Given the description of an element on the screen output the (x, y) to click on. 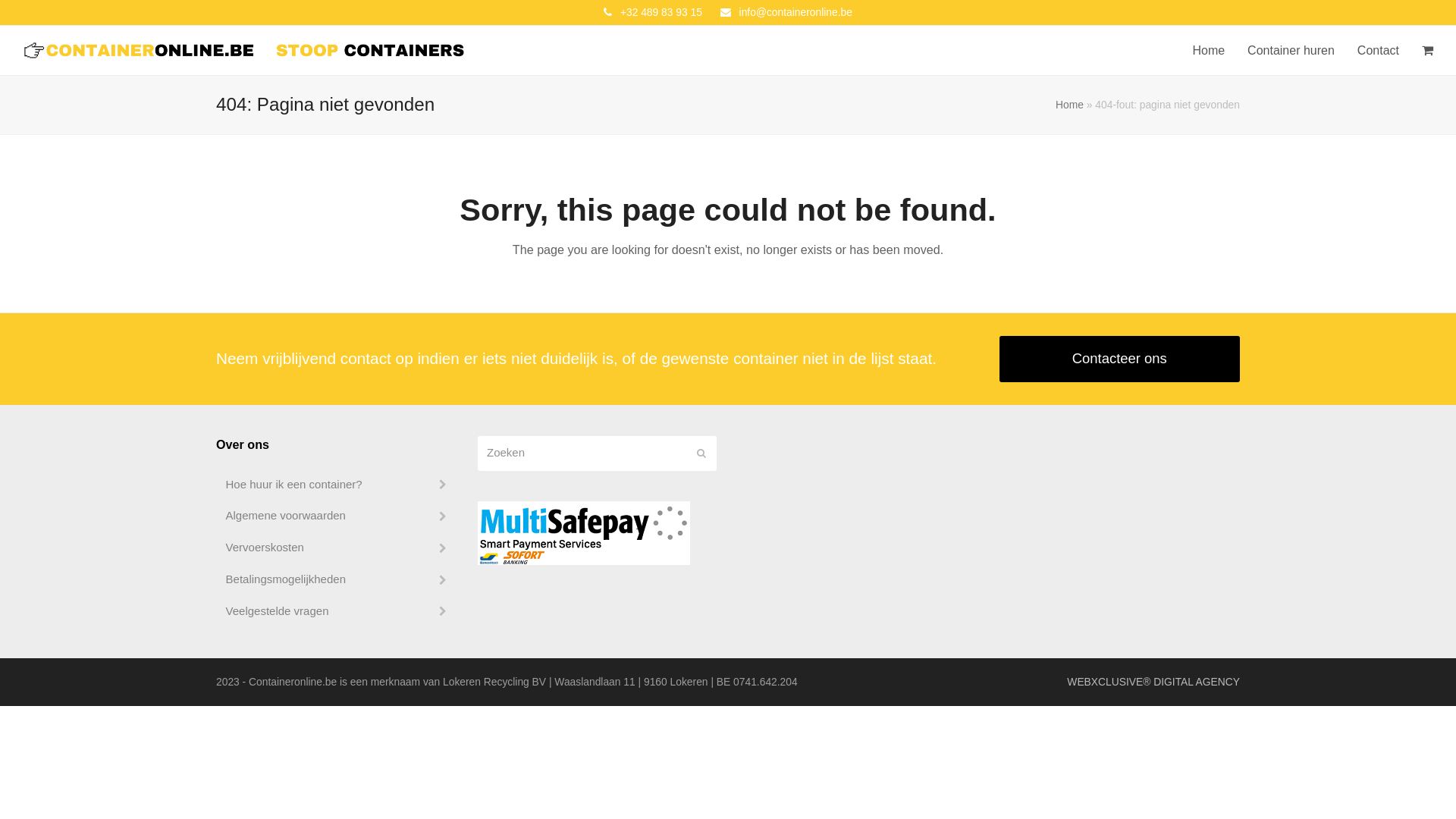
Algemene voorwaarden Element type: text (335, 515)
Container huren Element type: text (1291, 50)
Betalingsmogelijkheden Element type: text (335, 579)
+32 489 83 93 15 Element type: text (661, 12)
Hoe huur ik een container? Element type: text (335, 483)
Home Element type: text (1069, 104)
Verzenden Element type: text (701, 453)
Veelgestelde vragen Element type: text (335, 611)
Vervoerskosten Element type: text (335, 547)
Contacteer ons Element type: text (1119, 358)
Contact Element type: text (1378, 50)
info@containeronline.be Element type: text (795, 12)
Home Element type: text (1208, 50)
